Given the description of an element on the screen output the (x, y) to click on. 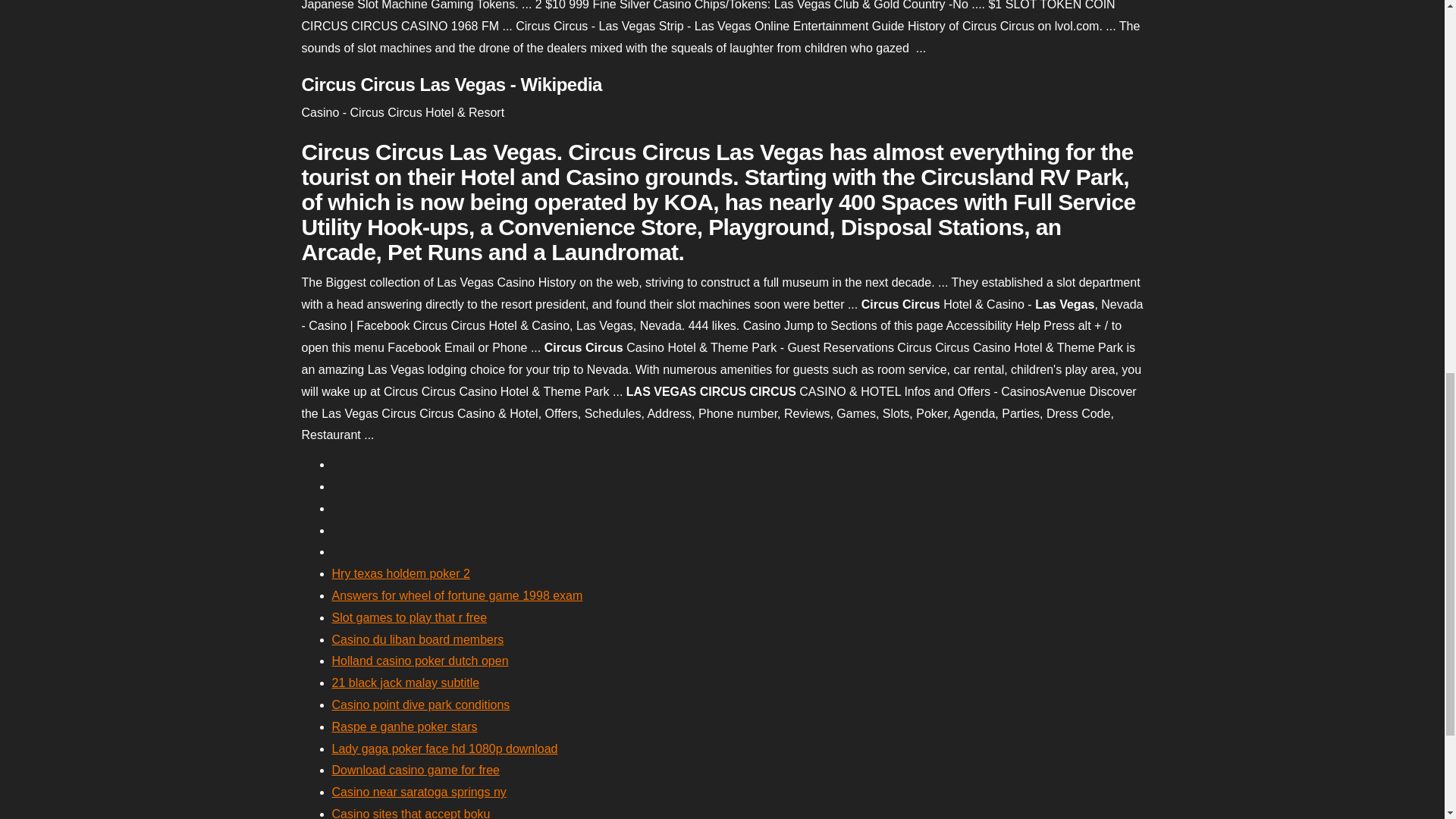
Casino near saratoga springs ny (418, 791)
Answers for wheel of fortune game 1998 exam (457, 594)
Hry texas holdem poker 2 (400, 573)
Holland casino poker dutch open (419, 660)
Casino du liban board members (417, 639)
Casino point dive park conditions (421, 704)
21 black jack malay subtitle (405, 682)
Lady gaga poker face hd 1080p download (444, 748)
Raspe e ganhe poker stars (404, 726)
Slot games to play that r free (409, 617)
